Given the description of an element on the screen output the (x, y) to click on. 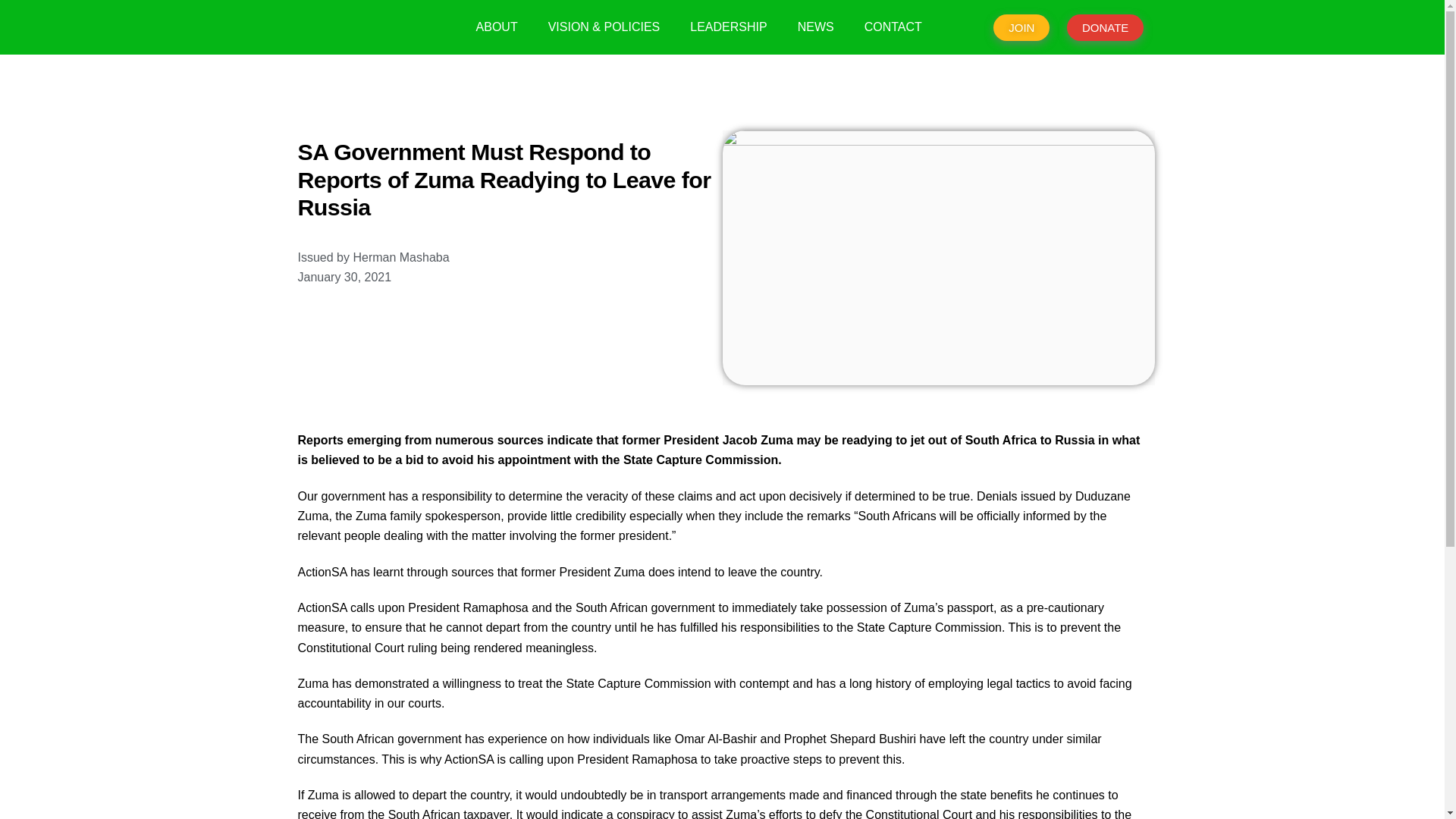
JOIN (1020, 27)
NEWS (815, 27)
ABOUT (496, 27)
DONATE (1104, 27)
LEADERSHIP (728, 27)
CONTACT (892, 27)
